Given the description of an element on the screen output the (x, y) to click on. 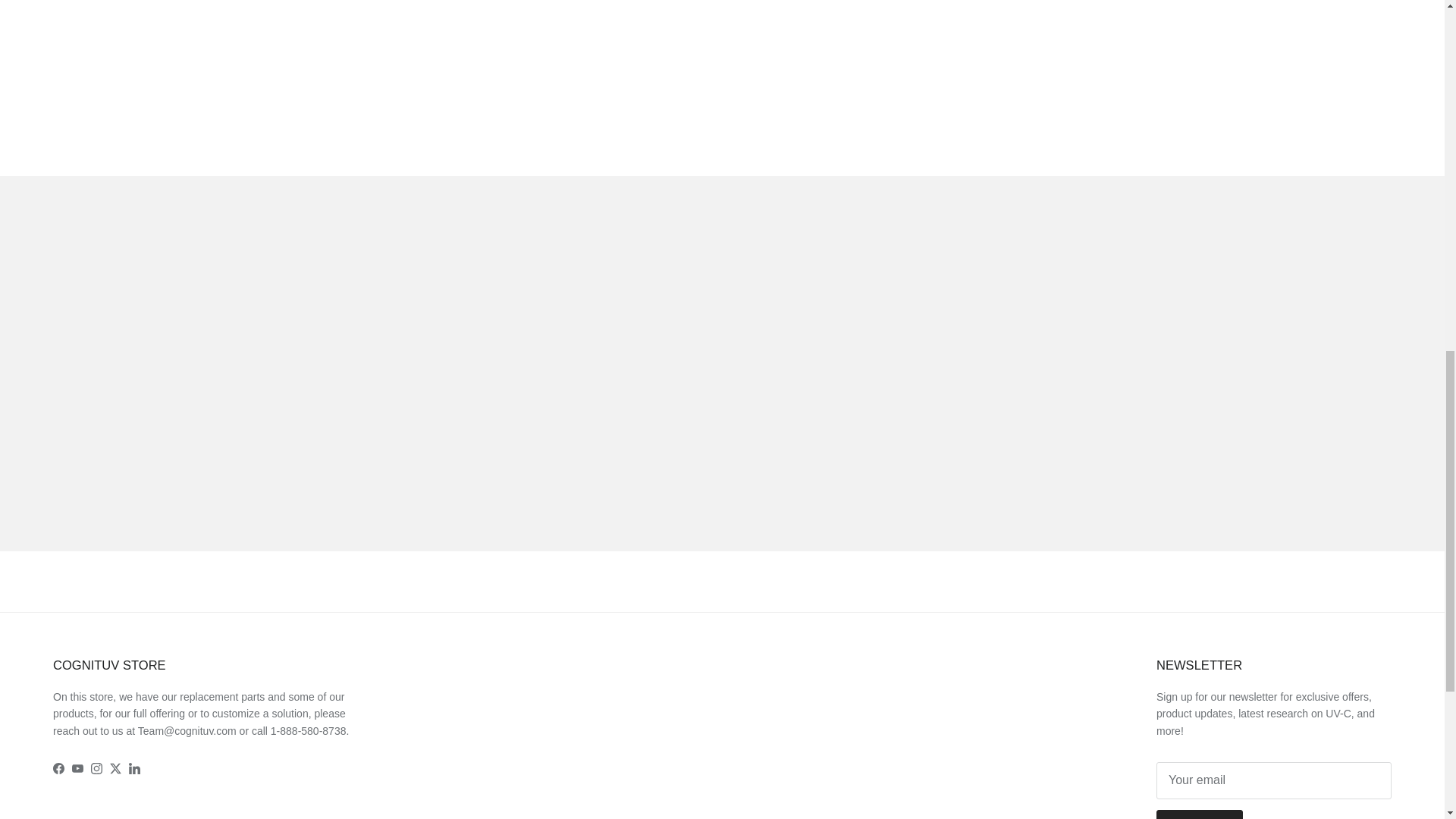
Cognituv.store on Instagram (95, 767)
Cognituv.store on LinkedIn (134, 767)
Cognituv.store on Facebook (58, 767)
Cognituv.store on YouTube (76, 767)
Cognituv.store on Twitter (115, 767)
